Given the description of an element on the screen output the (x, y) to click on. 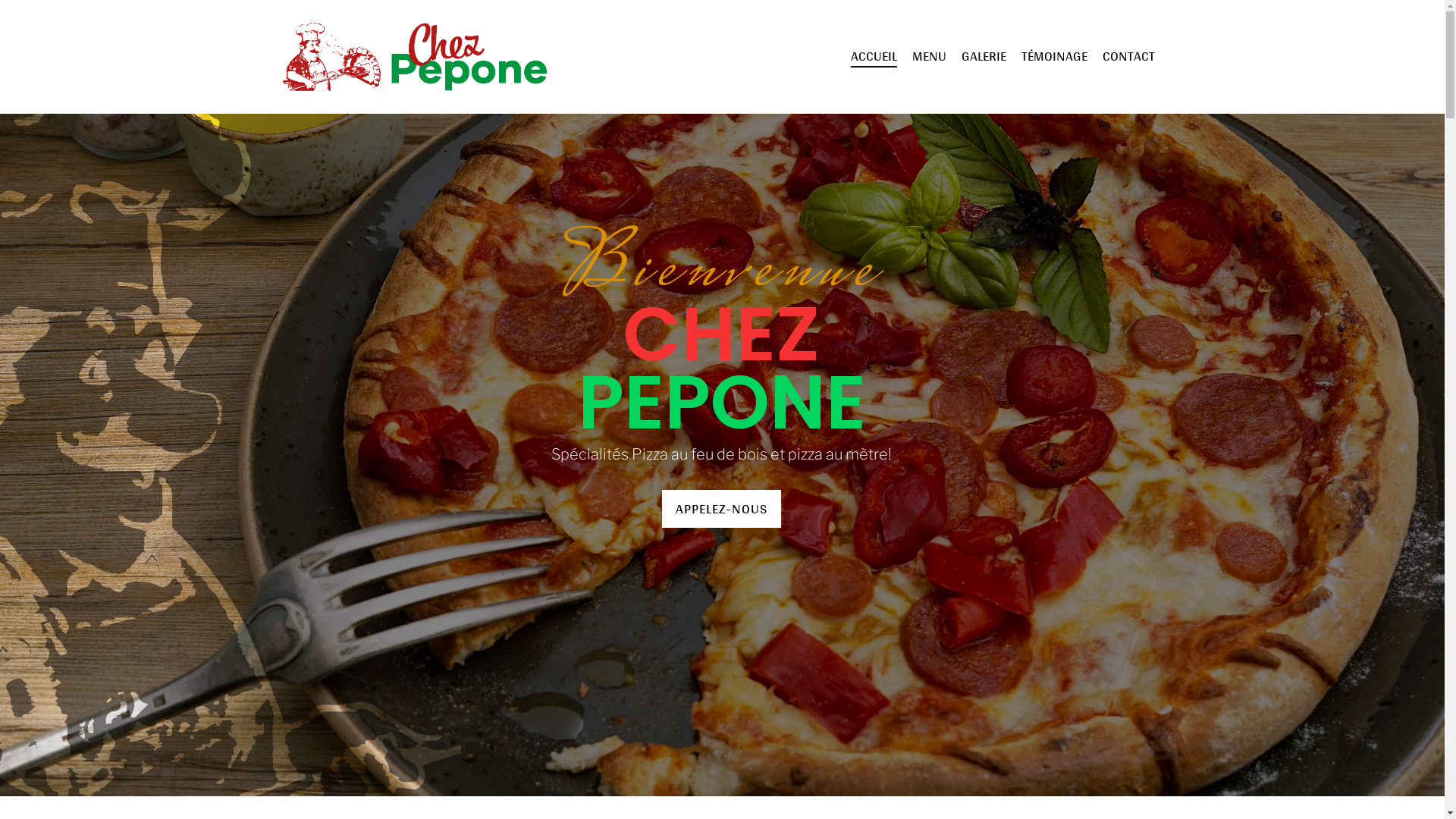
CONTACT Element type: text (1128, 56)
ACCUEIL Element type: text (873, 56)
MENU Element type: text (928, 56)
GALERIE Element type: text (983, 56)
